Given the description of an element on the screen output the (x, y) to click on. 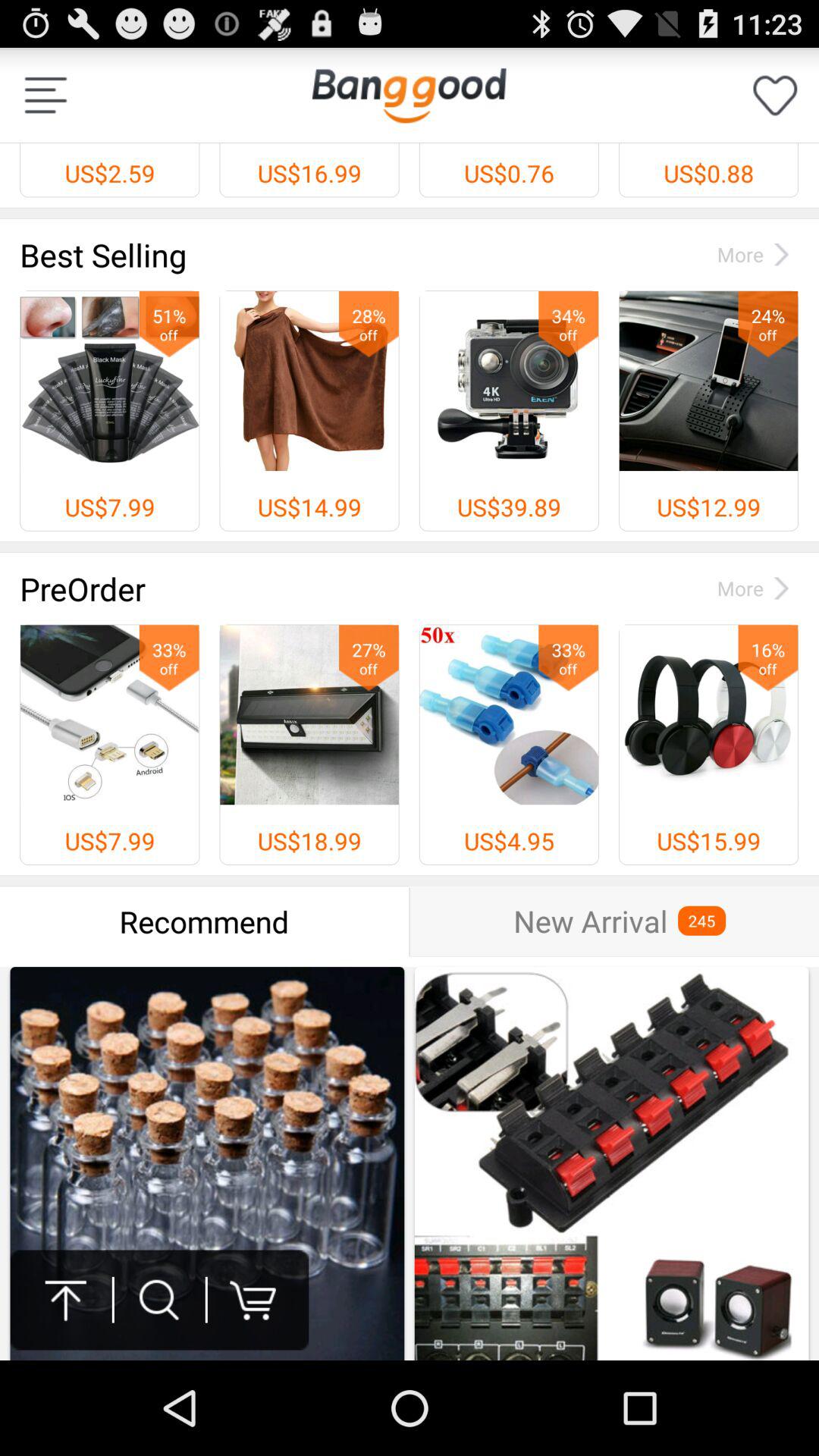
click app to the left of the us$0.88 icon (409, 95)
